Given the description of an element on the screen output the (x, y) to click on. 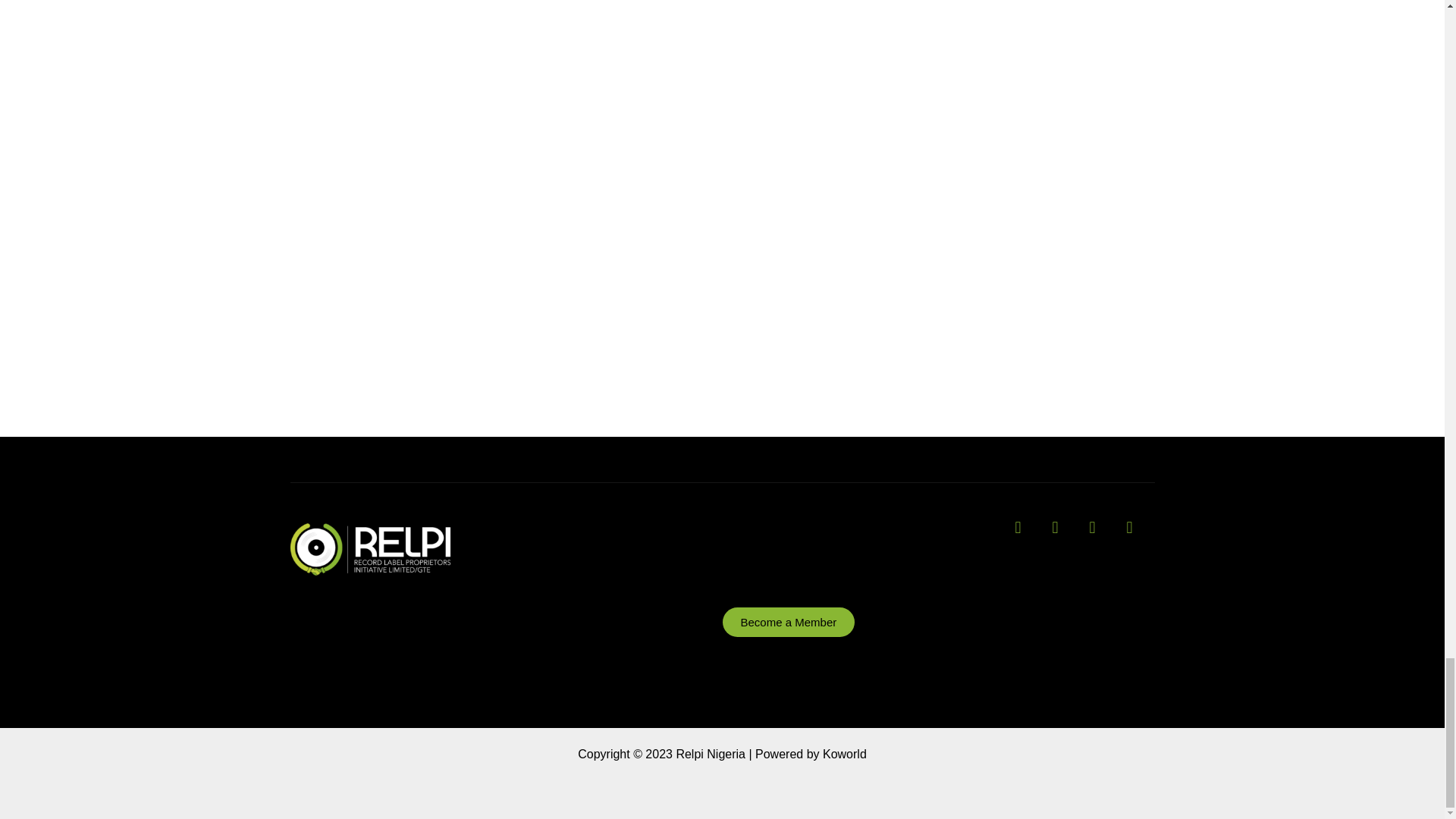
Instagram (1025, 535)
Become a Member (788, 622)
Facebook-f (1063, 535)
Linkedin (1137, 535)
Twitter (1099, 535)
